Given the description of an element on the screen output the (x, y) to click on. 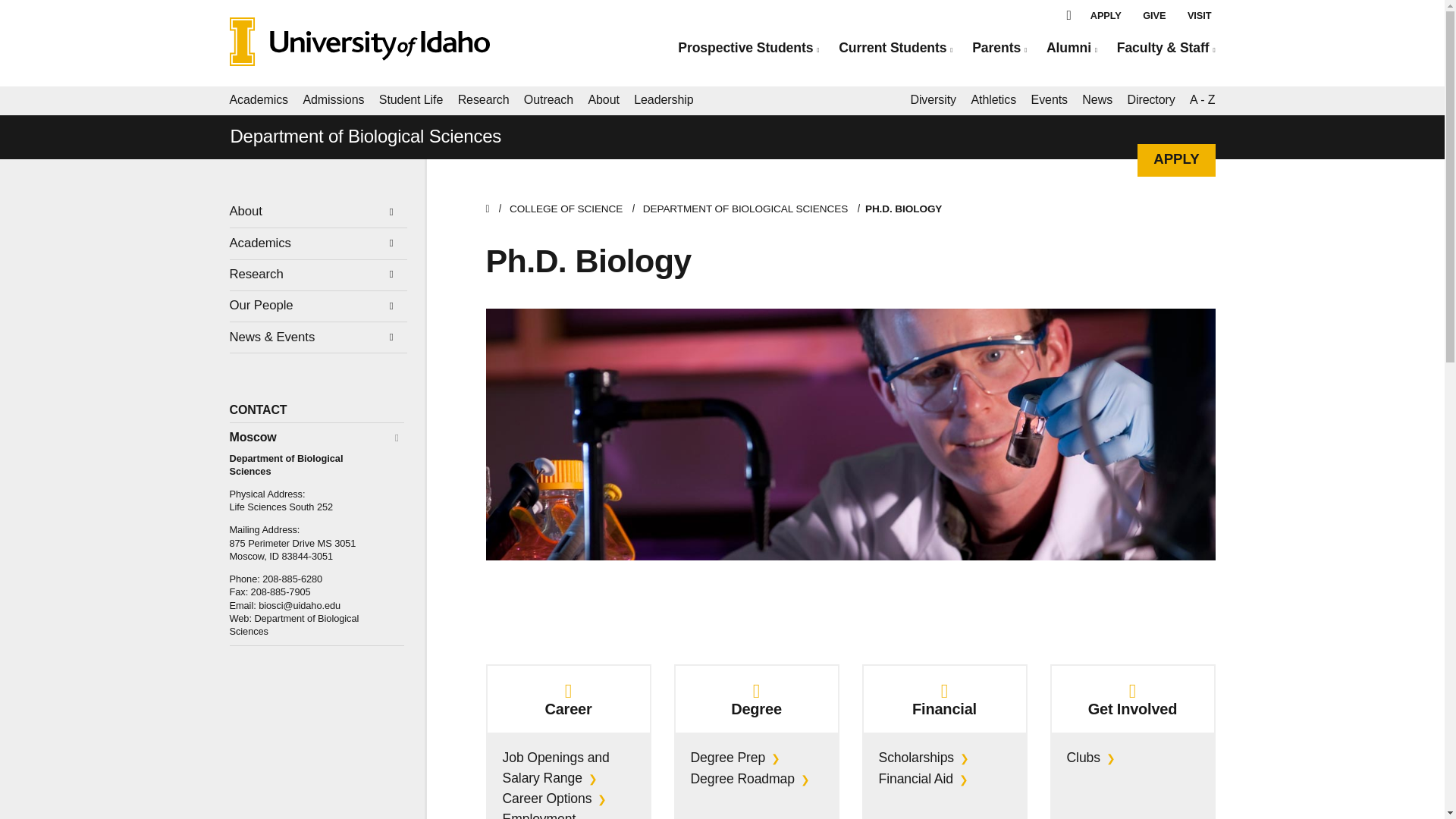
Current Students (895, 48)
GIVE (1154, 15)
Alumni (1071, 48)
Parents (999, 48)
Prospective Students (748, 48)
APPLY (1105, 15)
VISIT (1199, 15)
